Given the description of an element on the screen output the (x, y) to click on. 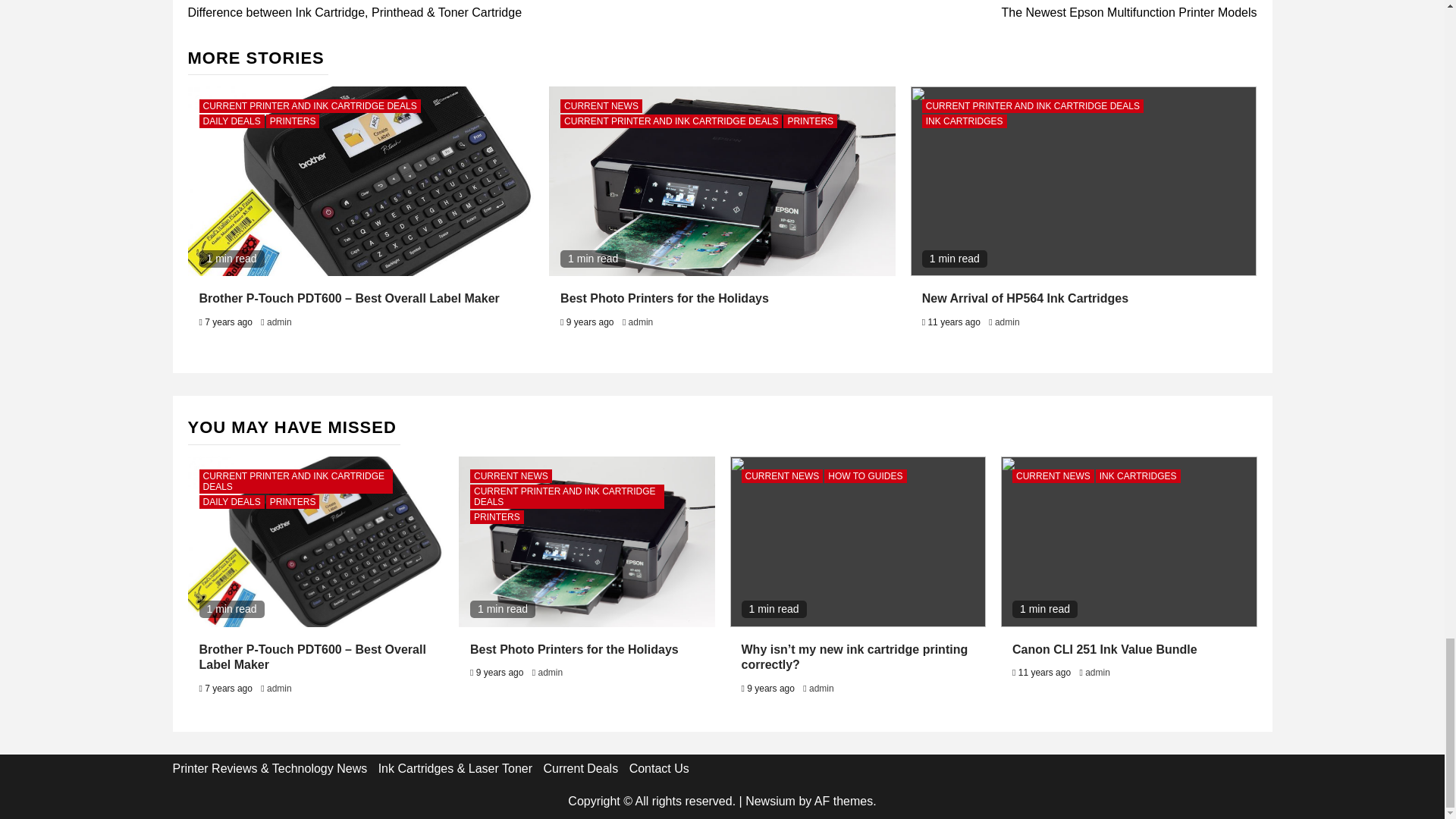
CURRENT PRINTER AND INK CARTRIDGE DEALS (295, 481)
New Arrival of HP564 Ink Cartridges (1024, 297)
admin (640, 321)
admin (1007, 321)
DAILY DEALS (230, 120)
CURRENT PRINTER AND INK CARTRIDGE DEALS (1031, 106)
admin (279, 321)
DAILY DEALS (230, 501)
INK CARTRIDGES (964, 120)
CURRENT PRINTER AND INK CARTRIDGE DEALS (309, 106)
PRINTERS (293, 120)
CURRENT PRINTER AND INK CARTRIDGE DEALS (670, 120)
PRINTERS (810, 120)
PRINTERS (989, 11)
